Given the description of an element on the screen output the (x, y) to click on. 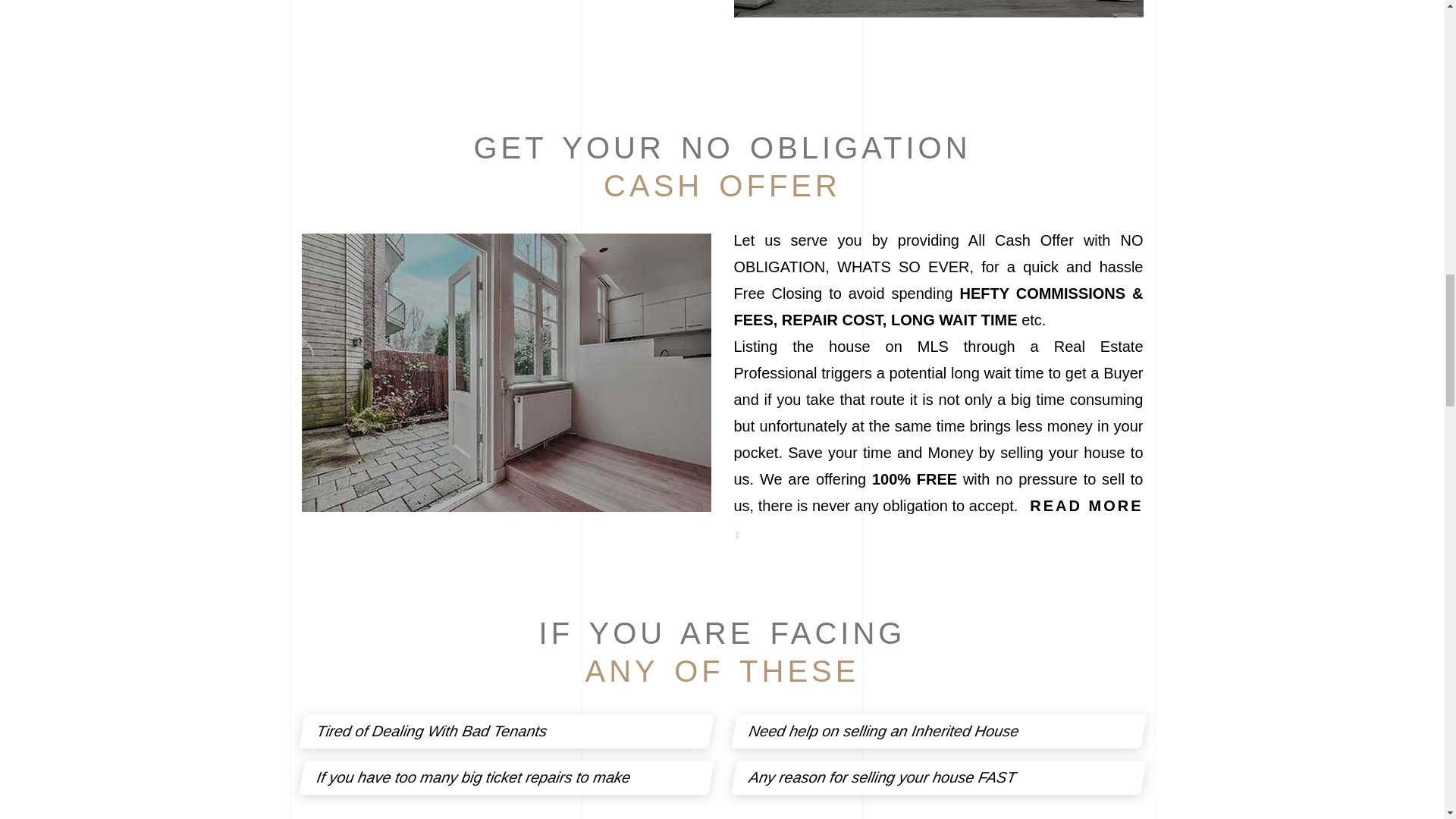
READ MORE (937, 519)
